Given the description of an element on the screen output the (x, y) to click on. 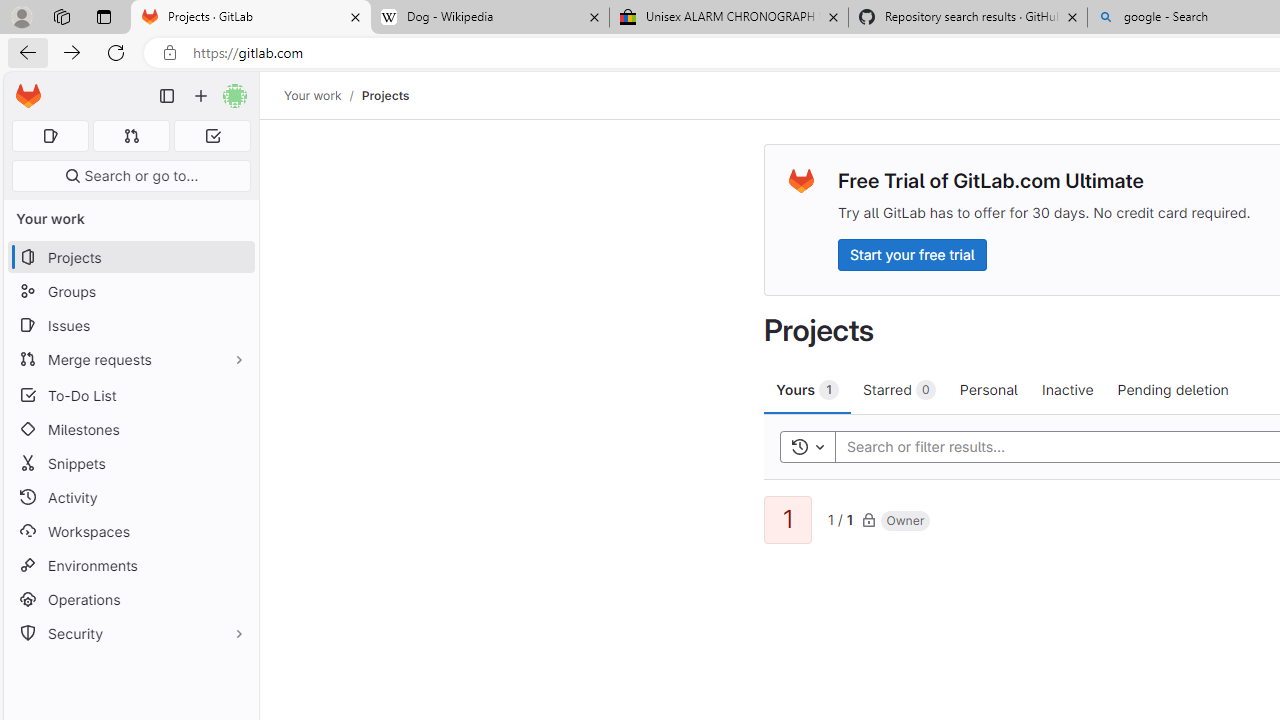
To-Do List (130, 394)
Security (130, 633)
Projects (384, 95)
Operations (130, 599)
Groups (130, 291)
Assigned issues 0 (50, 136)
Primary navigation sidebar (167, 96)
1 (787, 519)
Start your free trial (912, 254)
